Given the description of an element on the screen output the (x, y) to click on. 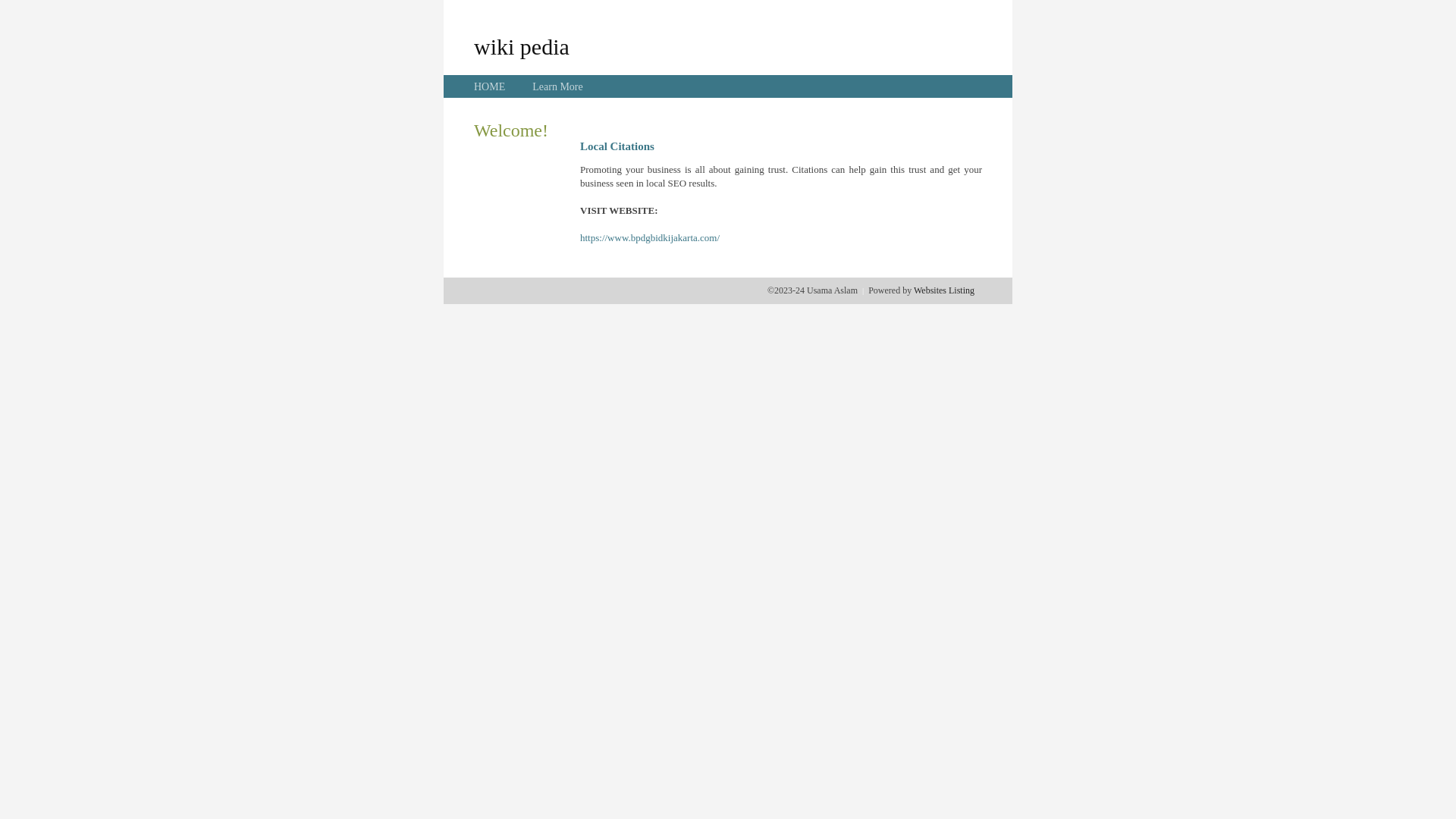
https://www.bpdgbidkijakarta.com/ Element type: text (649, 237)
wiki pedia Element type: text (521, 46)
HOME Element type: text (489, 86)
Learn More Element type: text (557, 86)
Websites Listing Element type: text (943, 290)
